Given the description of an element on the screen output the (x, y) to click on. 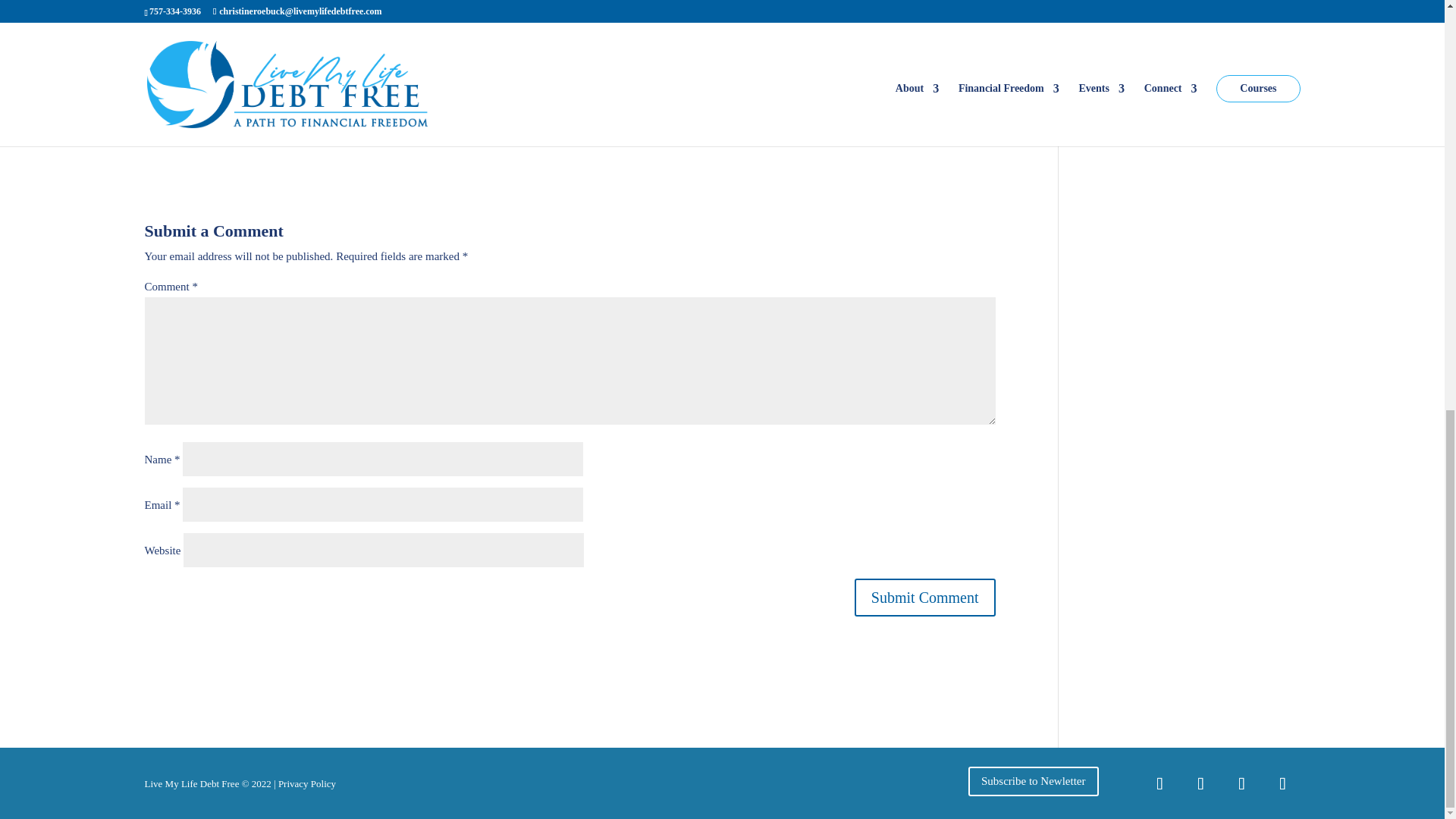
Subscribe to Newletter (1032, 781)
Submit Comment (924, 597)
Privacy Policy (307, 783)
Submit Comment (924, 597)
